Given the description of an element on the screen output the (x, y) to click on. 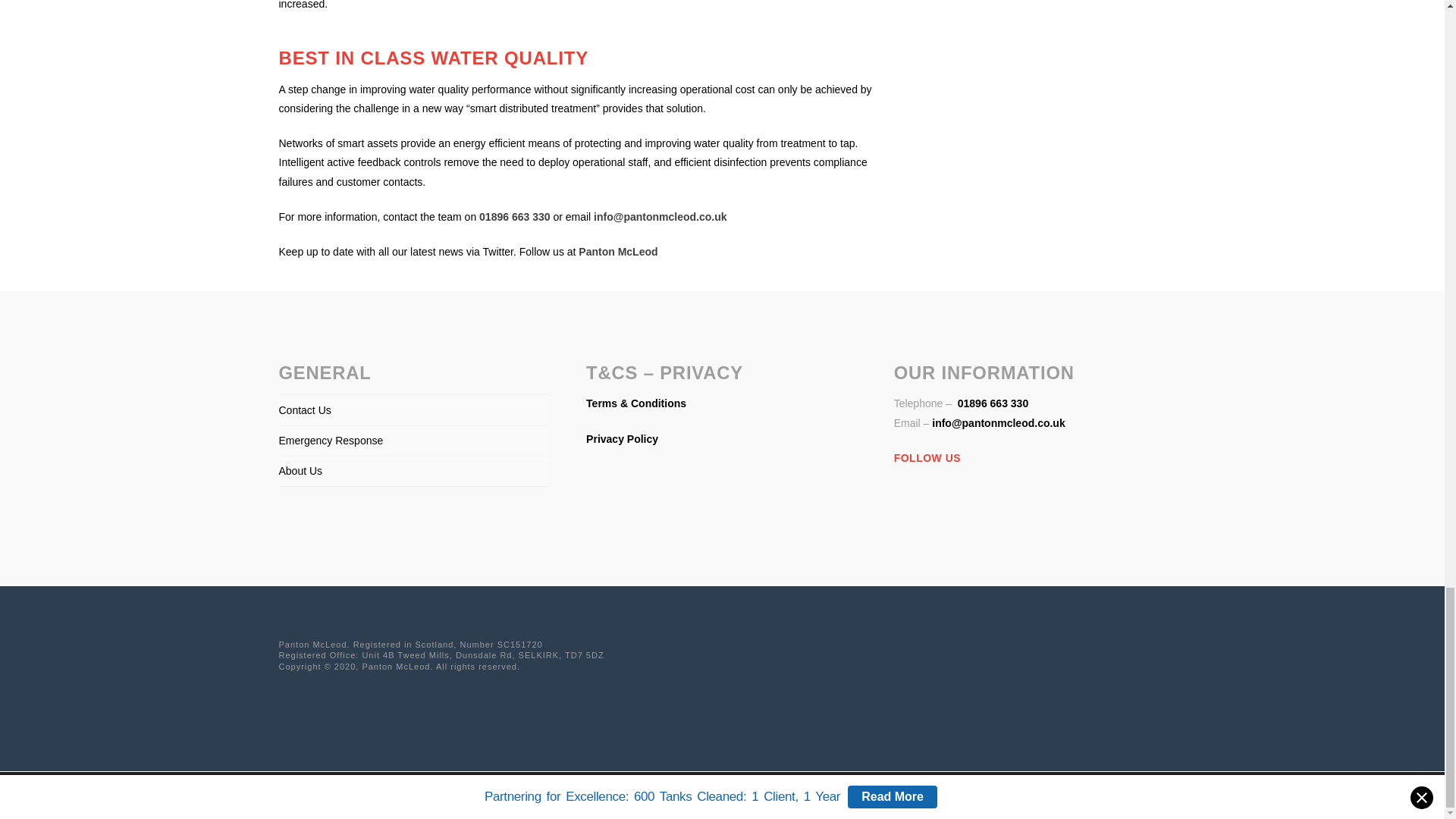
01896 663330 (991, 403)
